Given the description of an element on the screen output the (x, y) to click on. 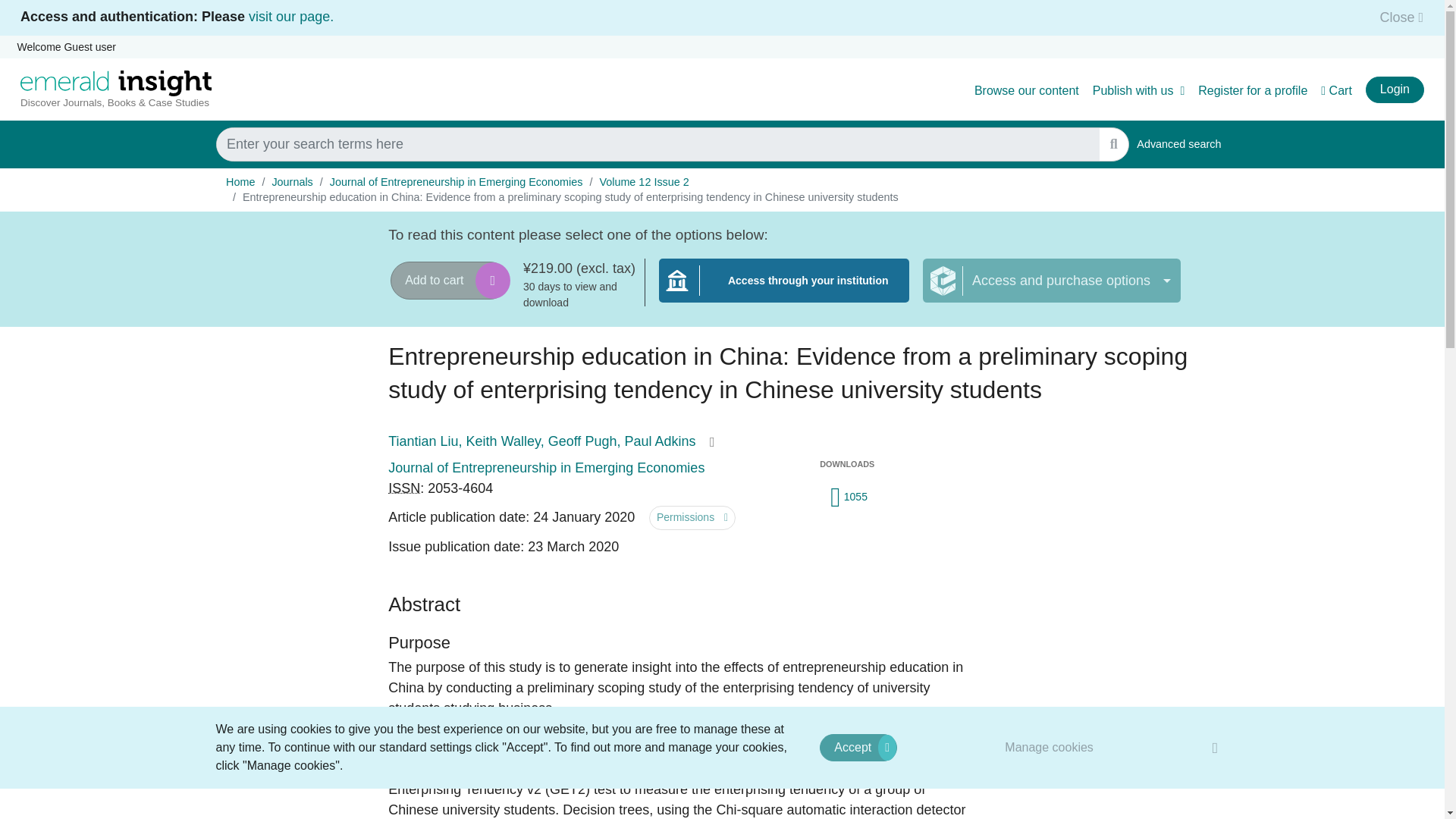
Journals (291, 182)
Register for a profile (1252, 90)
Browse our content (1026, 90)
International Standard Serial Number. (404, 488)
Access through your institution (783, 289)
Login (1394, 89)
Home (239, 182)
SUBMIT (1113, 143)
Close (1397, 17)
